Given the description of an element on the screen output the (x, y) to click on. 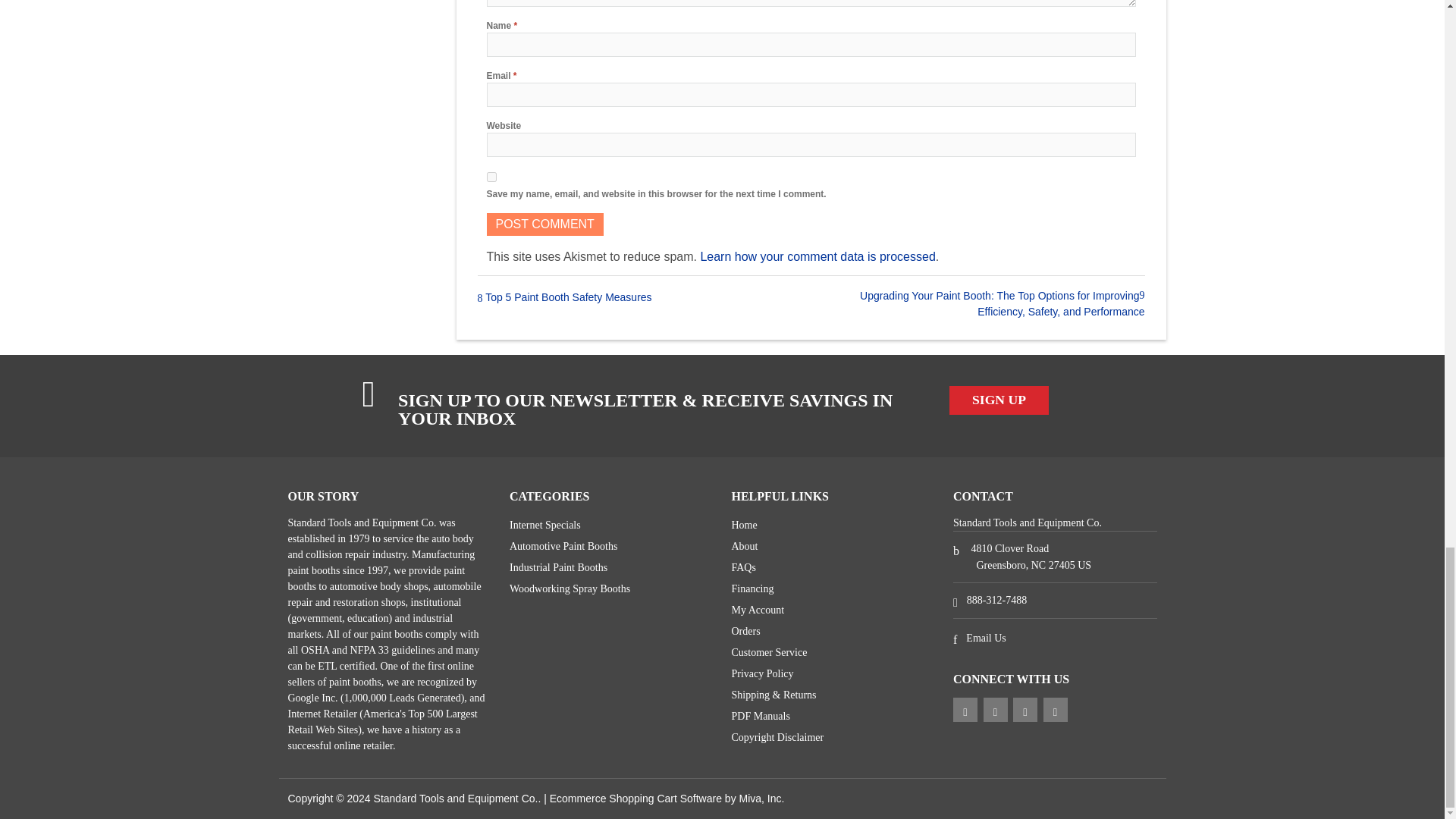
Post Comment (545, 223)
yes (491, 176)
